Given the description of an element on the screen output the (x, y) to click on. 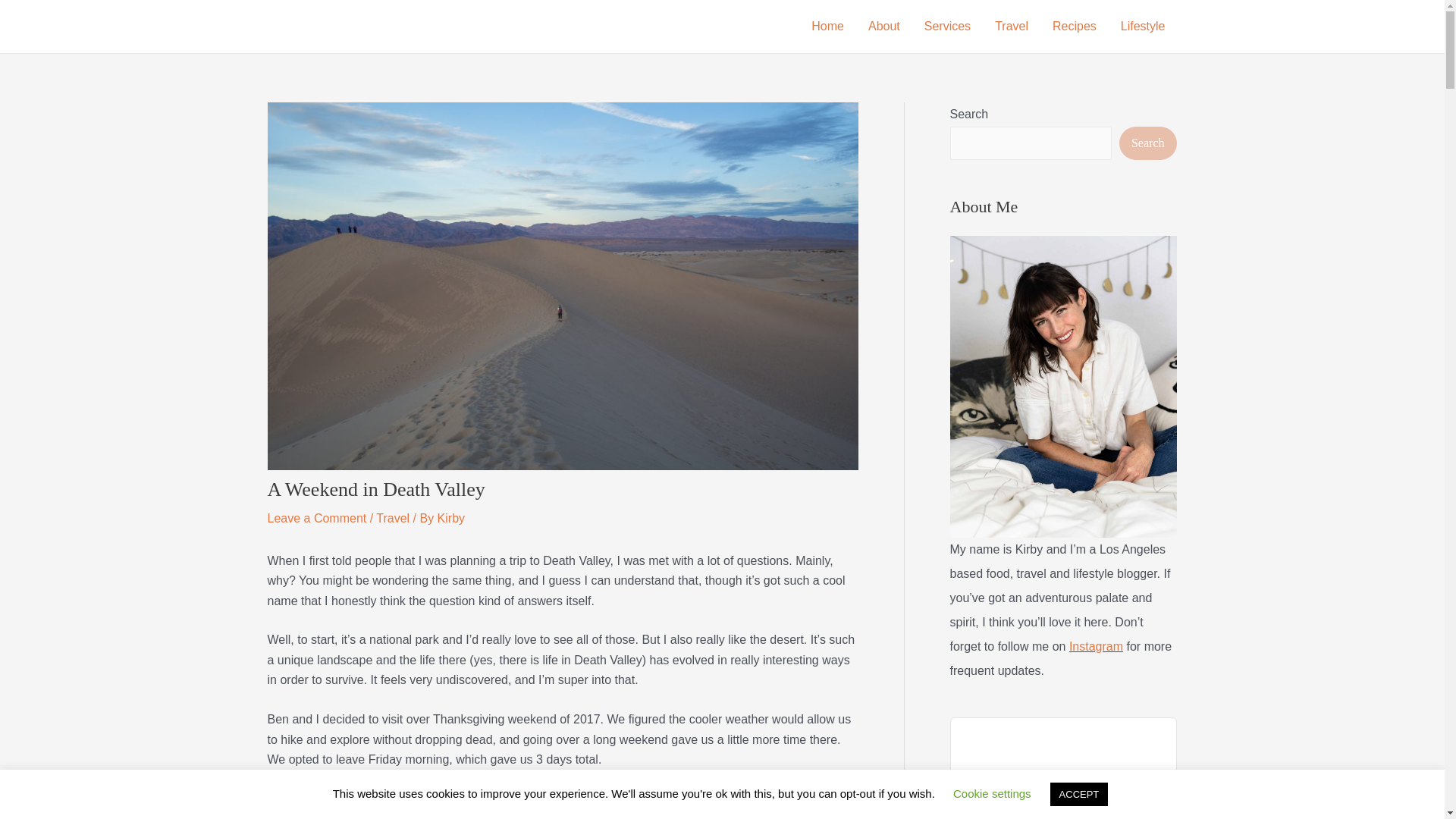
Lifestyle (1142, 26)
About (884, 26)
Recipes (1074, 26)
Services (947, 26)
Travel (392, 517)
Instagram (1095, 645)
View all posts by Kirby (451, 517)
Home (827, 26)
Search (1147, 142)
Kirby (451, 517)
Travel (1011, 26)
Leave a Comment (316, 517)
